Given the description of an element on the screen output the (x, y) to click on. 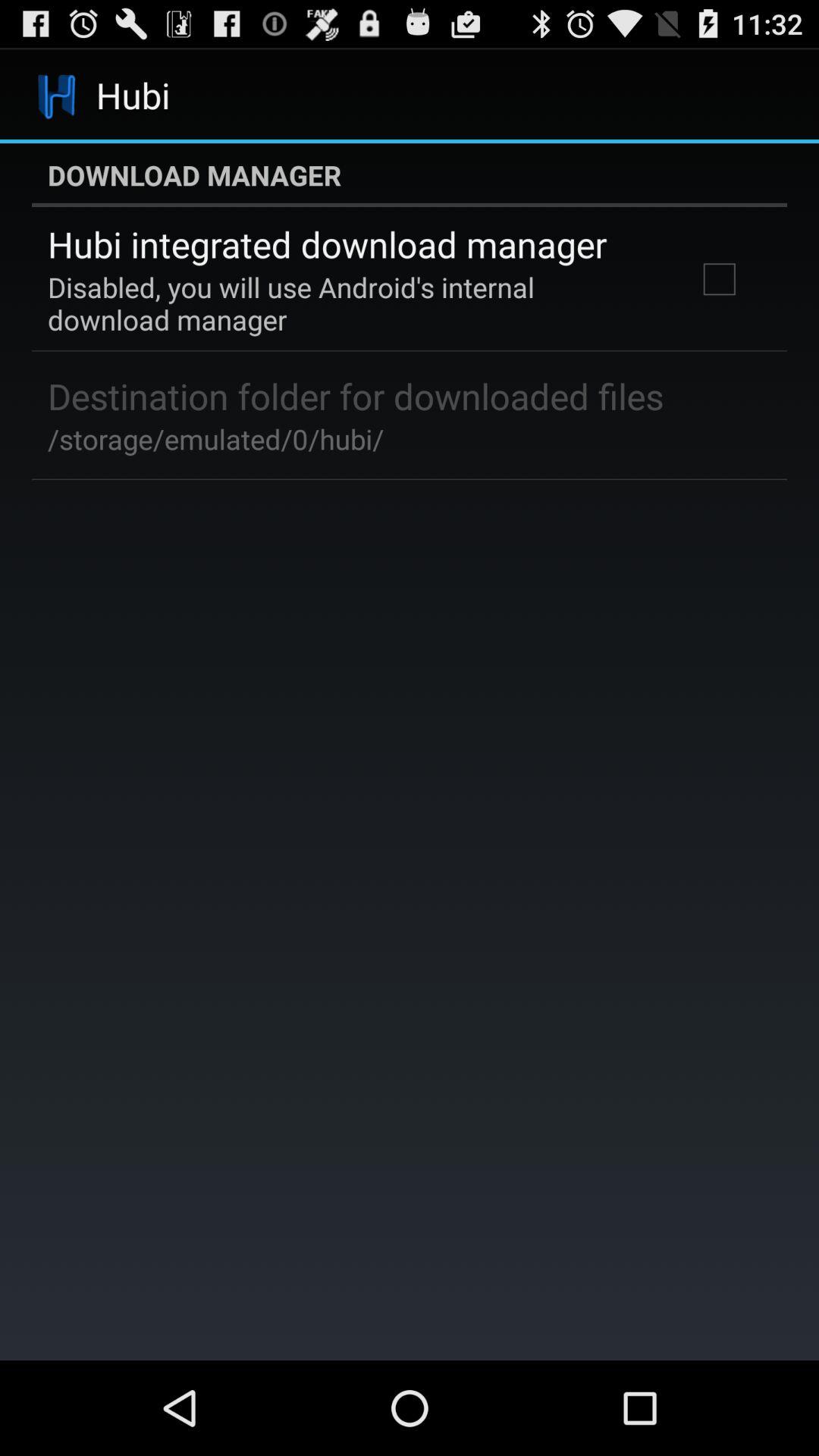
turn on item below destination folder for app (215, 438)
